Given the description of an element on the screen output the (x, y) to click on. 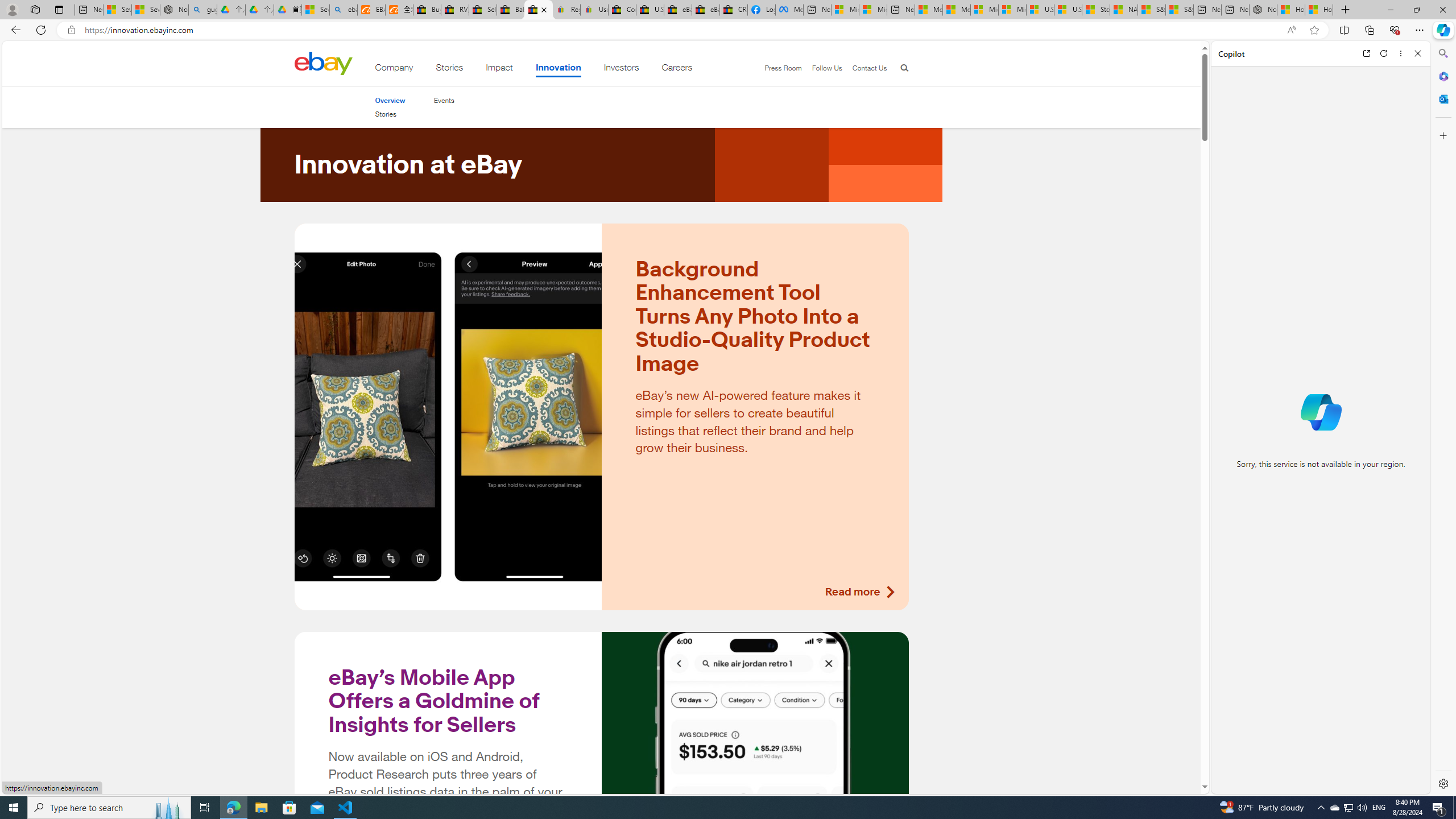
Settings (1442, 783)
Home (323, 63)
Follow Us (821, 68)
Register: Create a personal eBay account (566, 9)
S&P 500, Nasdaq end lower, weighed by Nvidia dip | Watch (1179, 9)
Impact (499, 69)
Innovation (557, 69)
Careers (677, 69)
